Given the description of an element on the screen output the (x, y) to click on. 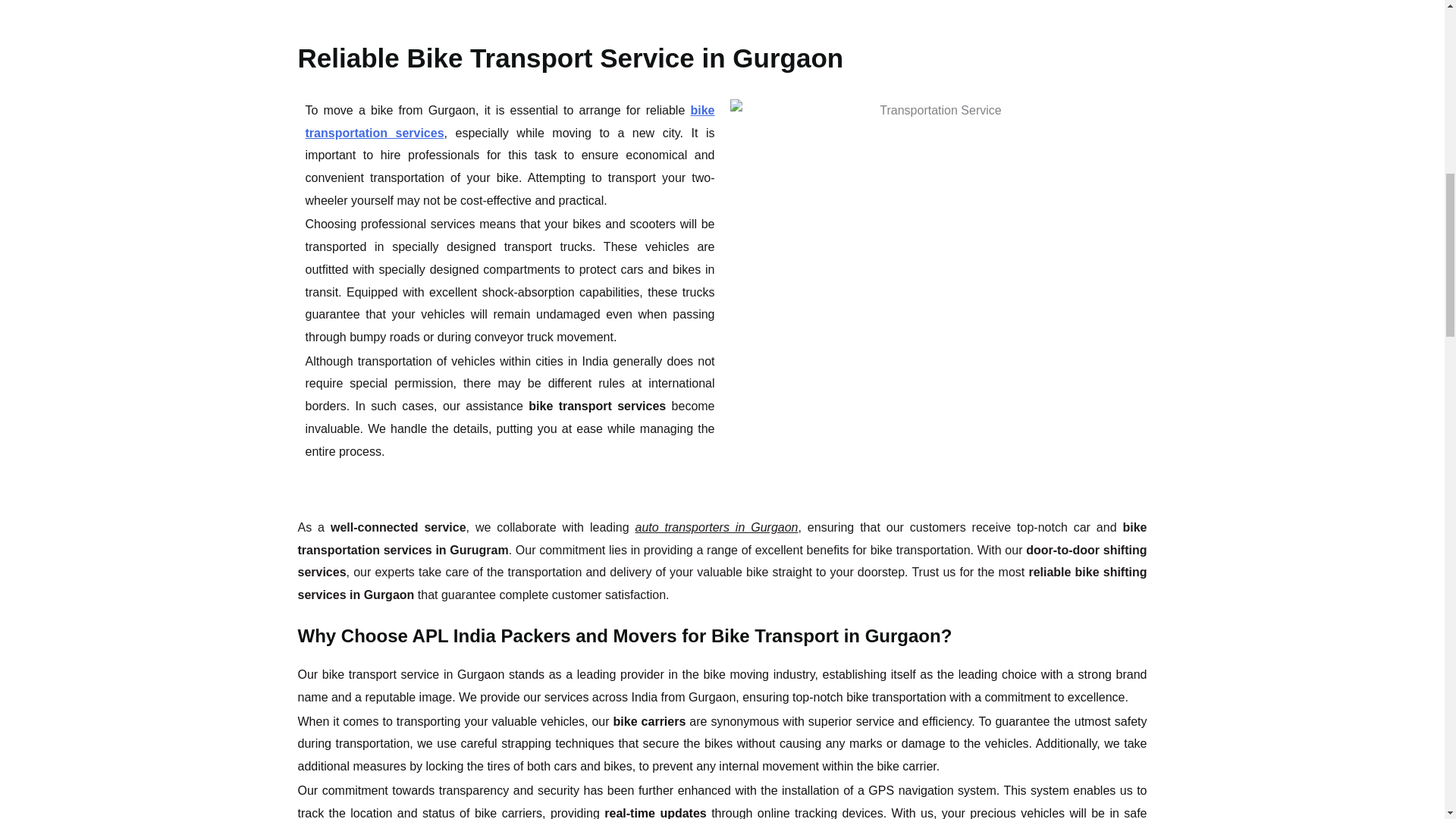
bike transportation services (509, 121)
Bike Transport Service in Gurgaon 2 (509, 15)
